Given the description of an element on the screen output the (x, y) to click on. 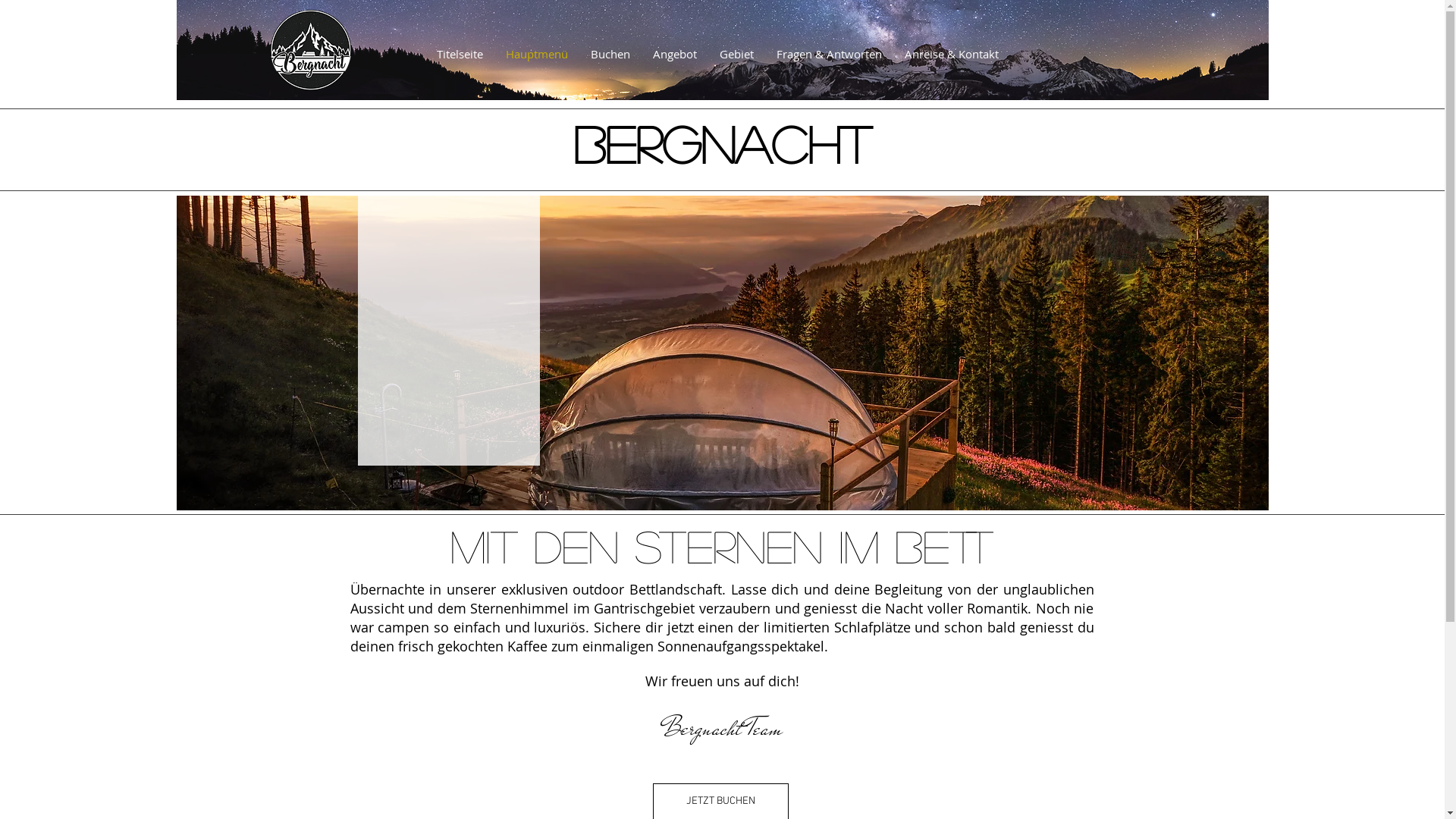
Titelseite Element type: text (458, 53)
Visualisierung Gantrisch ohne himmel.jpg Element type: hover (721, 352)
Buchen Element type: text (610, 53)
Gebiet Element type: text (736, 53)
Bergnacht_Logo.jpeg Element type: hover (309, 49)
Angebot Element type: text (674, 53)
Anreise & Kontakt Element type: text (951, 53)
Fragen & Antworten Element type: text (828, 53)
